Given the description of an element on the screen output the (x, y) to click on. 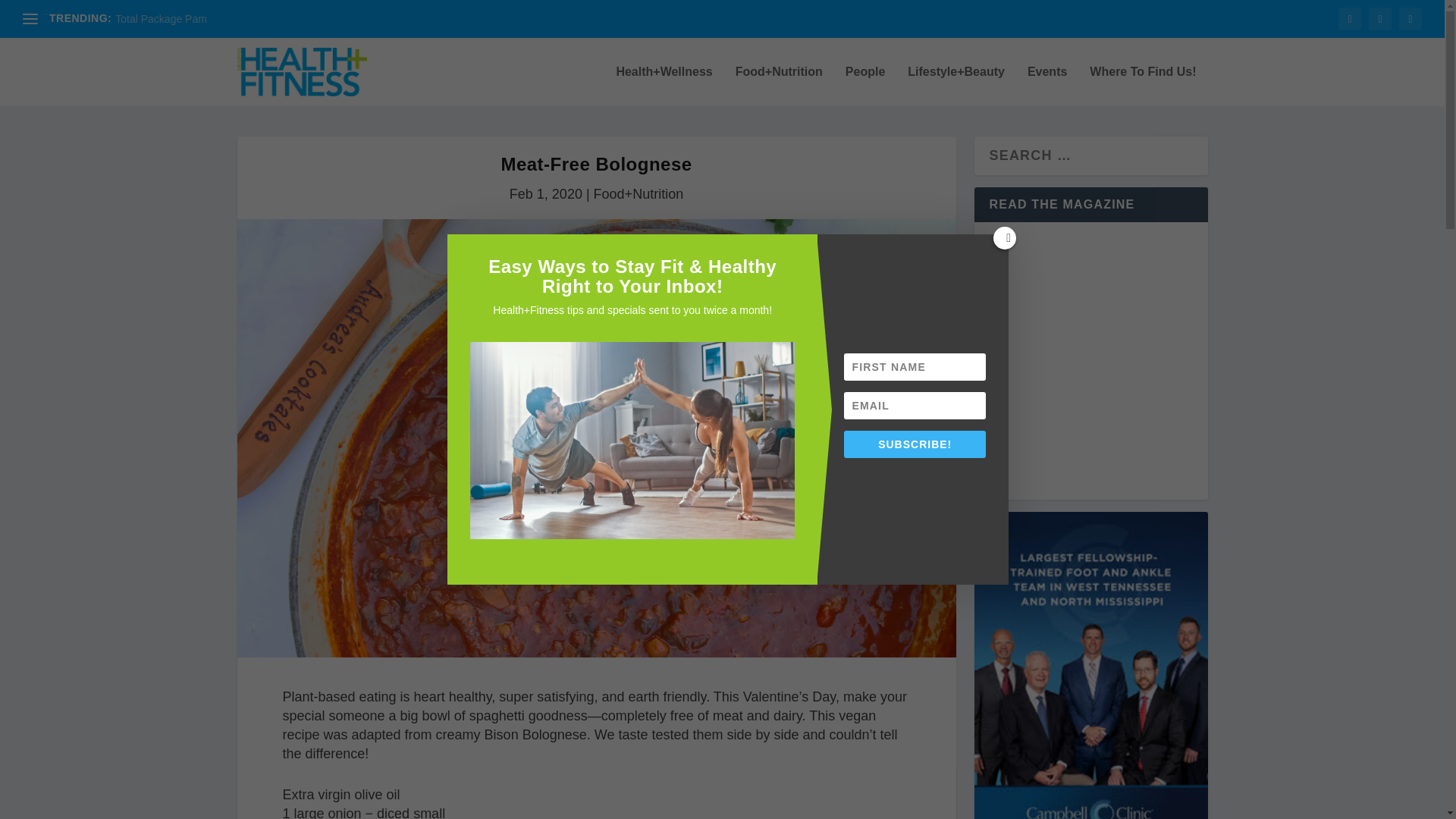
People (865, 86)
Search (37, 15)
Where To Find Us! (1142, 86)
Total Package Pam (160, 19)
Events (1047, 86)
